Given the description of an element on the screen output the (x, y) to click on. 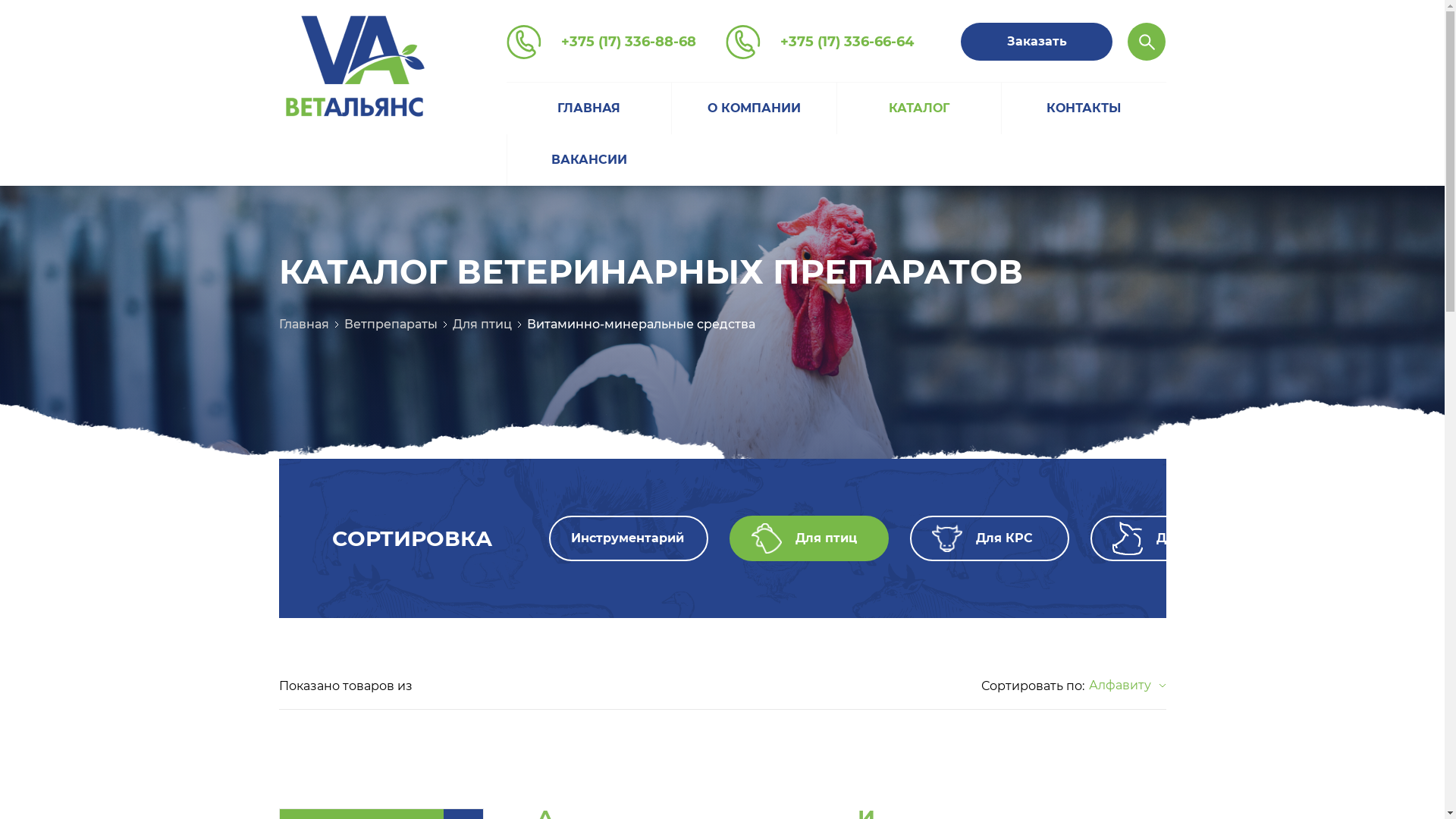
+375 (17) 336-88-68 Element type: text (601, 41)
+375 (17) 336-66-64 Element type: text (819, 41)
